Given the description of an element on the screen output the (x, y) to click on. 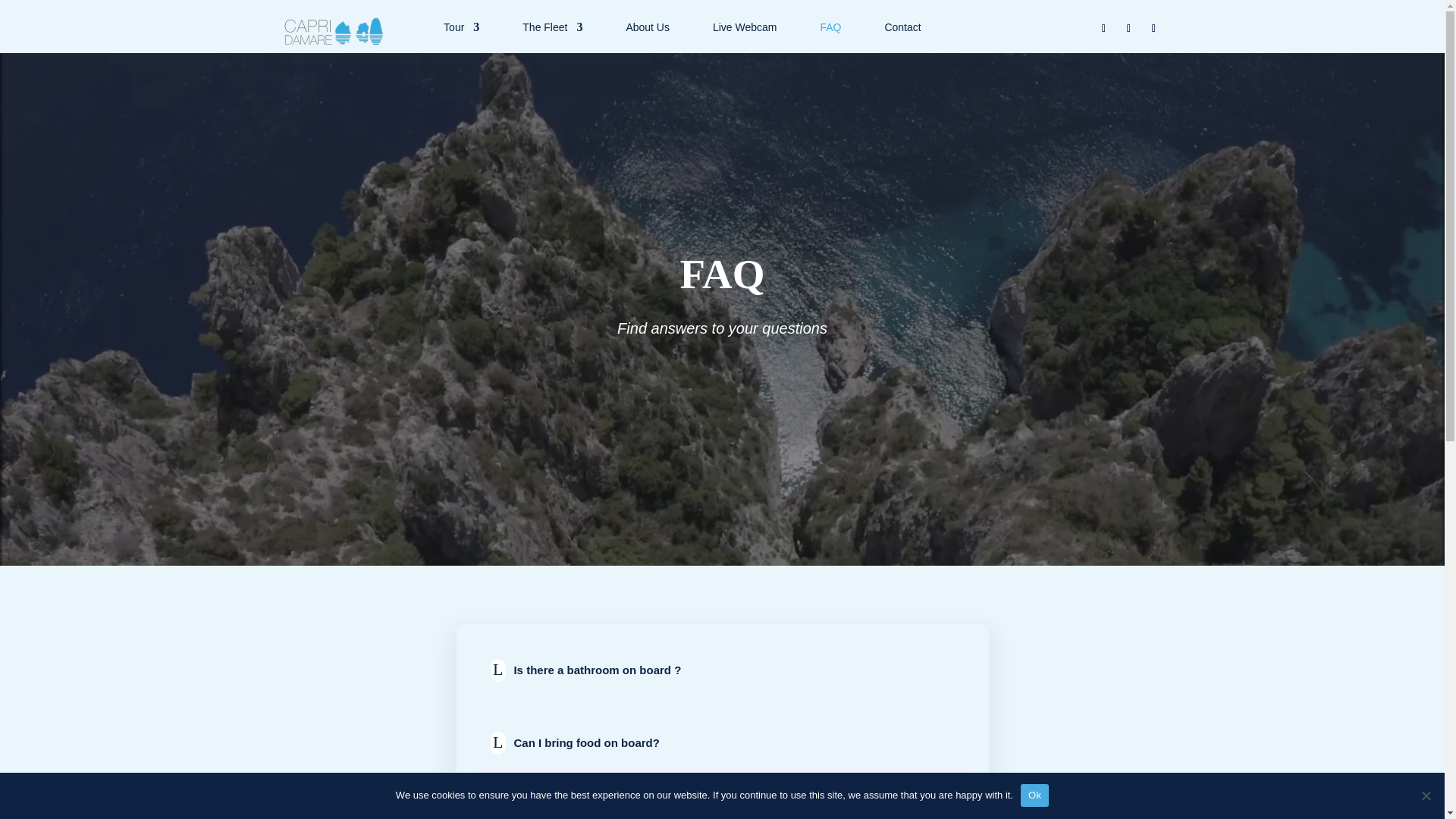
About Us (647, 29)
No (1425, 795)
logo-capridamare-transp (334, 31)
Tour (461, 29)
Live Webcam (745, 29)
Follow on Instagram (1102, 28)
Follow on Facebook (1128, 28)
The Fleet (552, 29)
Contact (901, 29)
Follow on WhatsApp (1153, 28)
FAQ (830, 29)
